Given the description of an element on the screen output the (x, y) to click on. 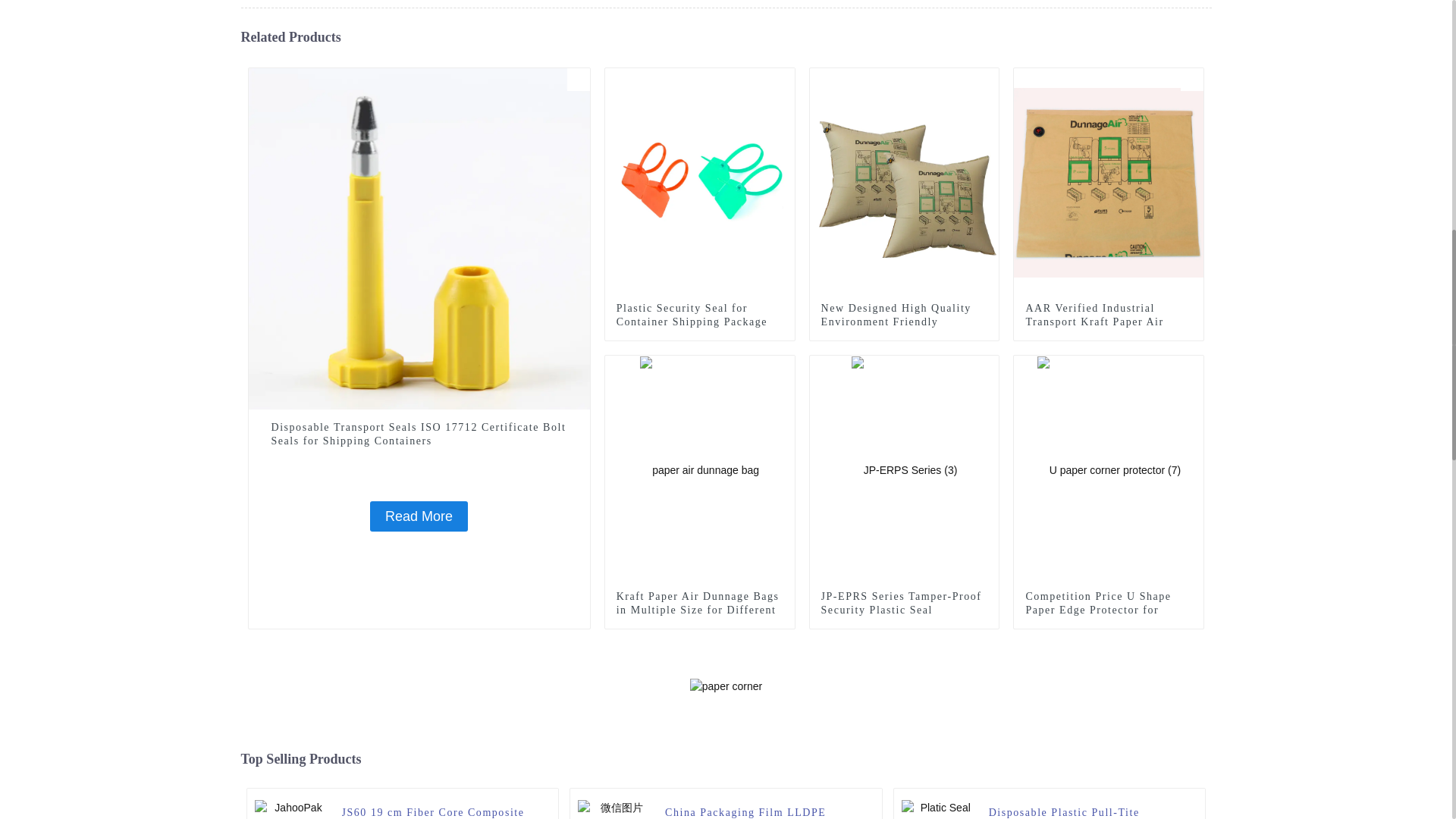
Plastic Security Seal for Container Shipping Package (699, 315)
paper air dunnage bag (782, 366)
dunnage air bag2 (986, 78)
JP-EPRS Series Tamper-Proof Security Plastic Seal (904, 469)
JP-EPRS Series Tamper-Proof Security Plastic Seal (904, 603)
